Given the description of an element on the screen output the (x, y) to click on. 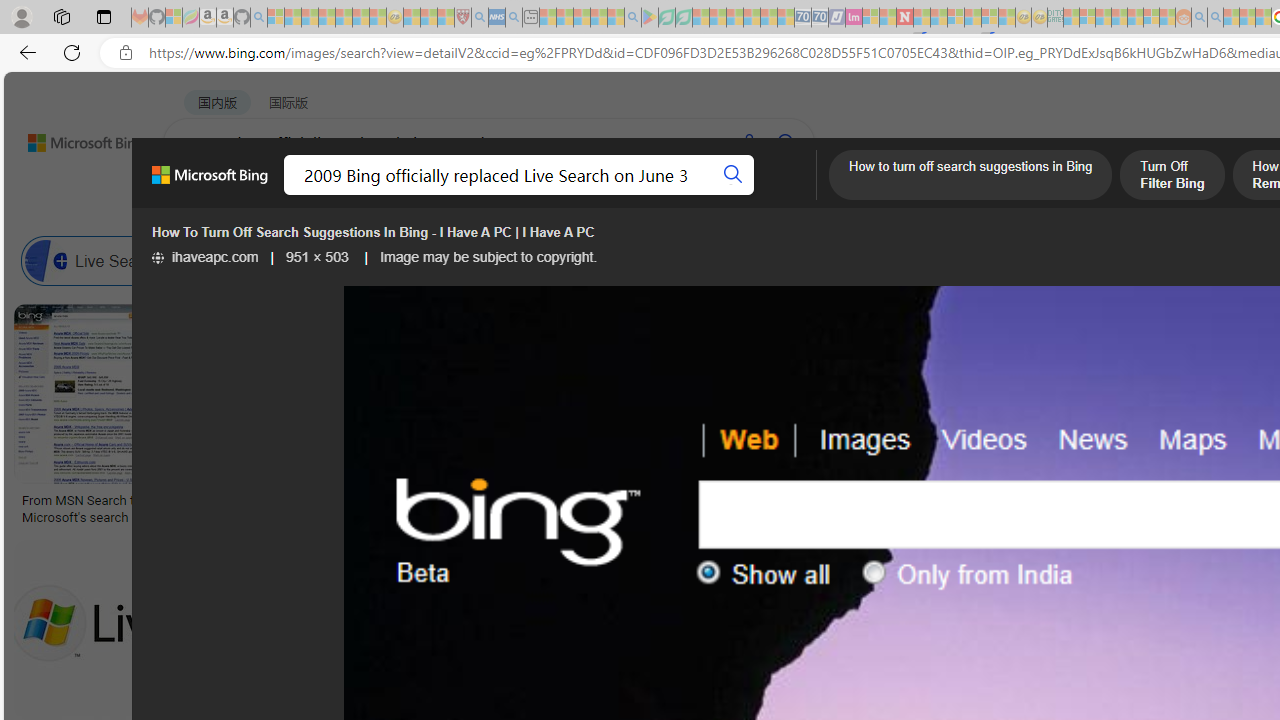
Bing Word Search (710, 260)
ACADEMIC (635, 195)
Class: item col (943, 260)
Live Search (100, 260)
